Given the description of an element on the screen output the (x, y) to click on. 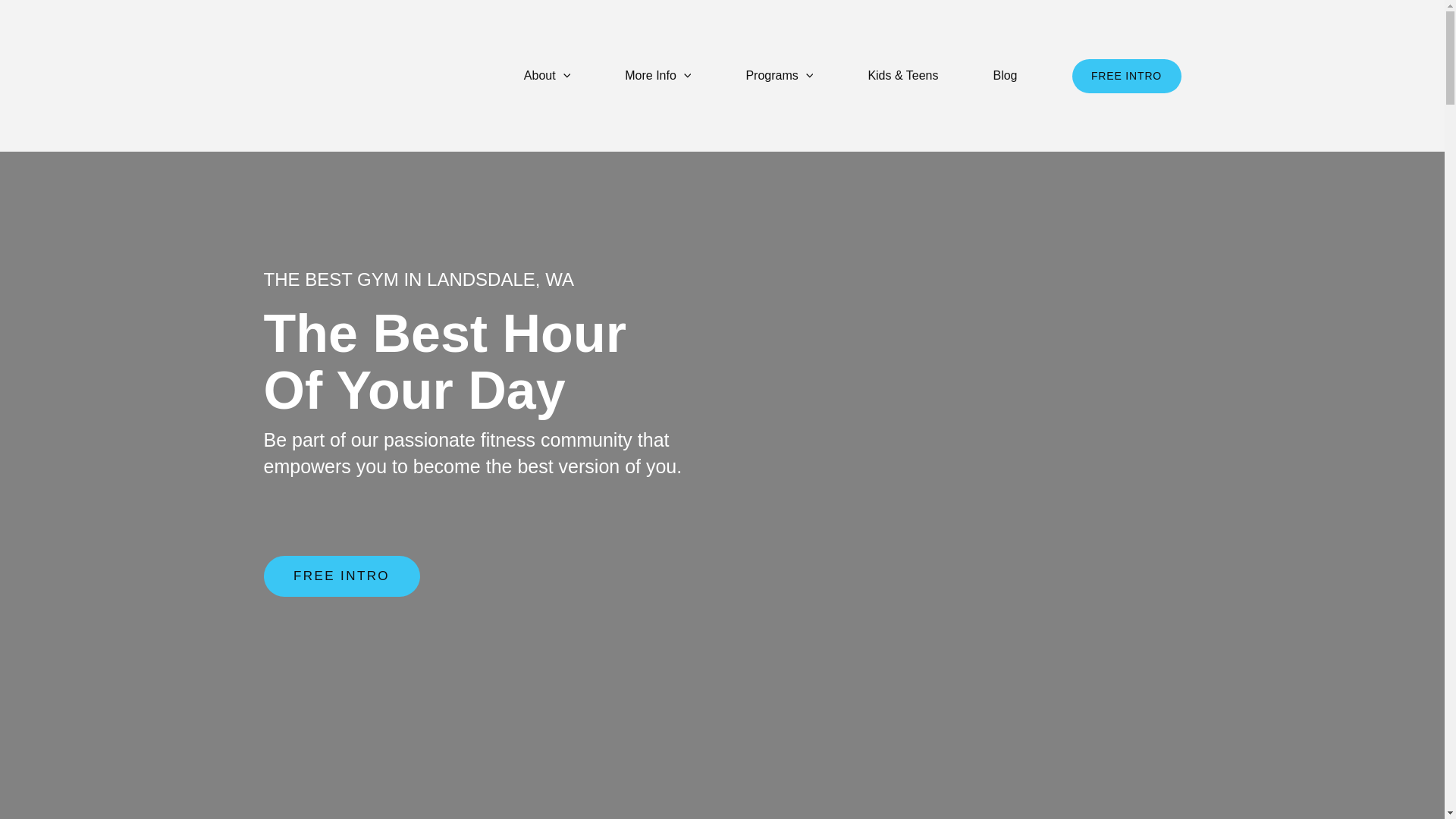
Programs (778, 75)
FREE INTRO (341, 576)
Blog (1004, 75)
FREE INTRO (1125, 75)
More Info (656, 75)
About (546, 75)
